Given the description of an element on the screen output the (x, y) to click on. 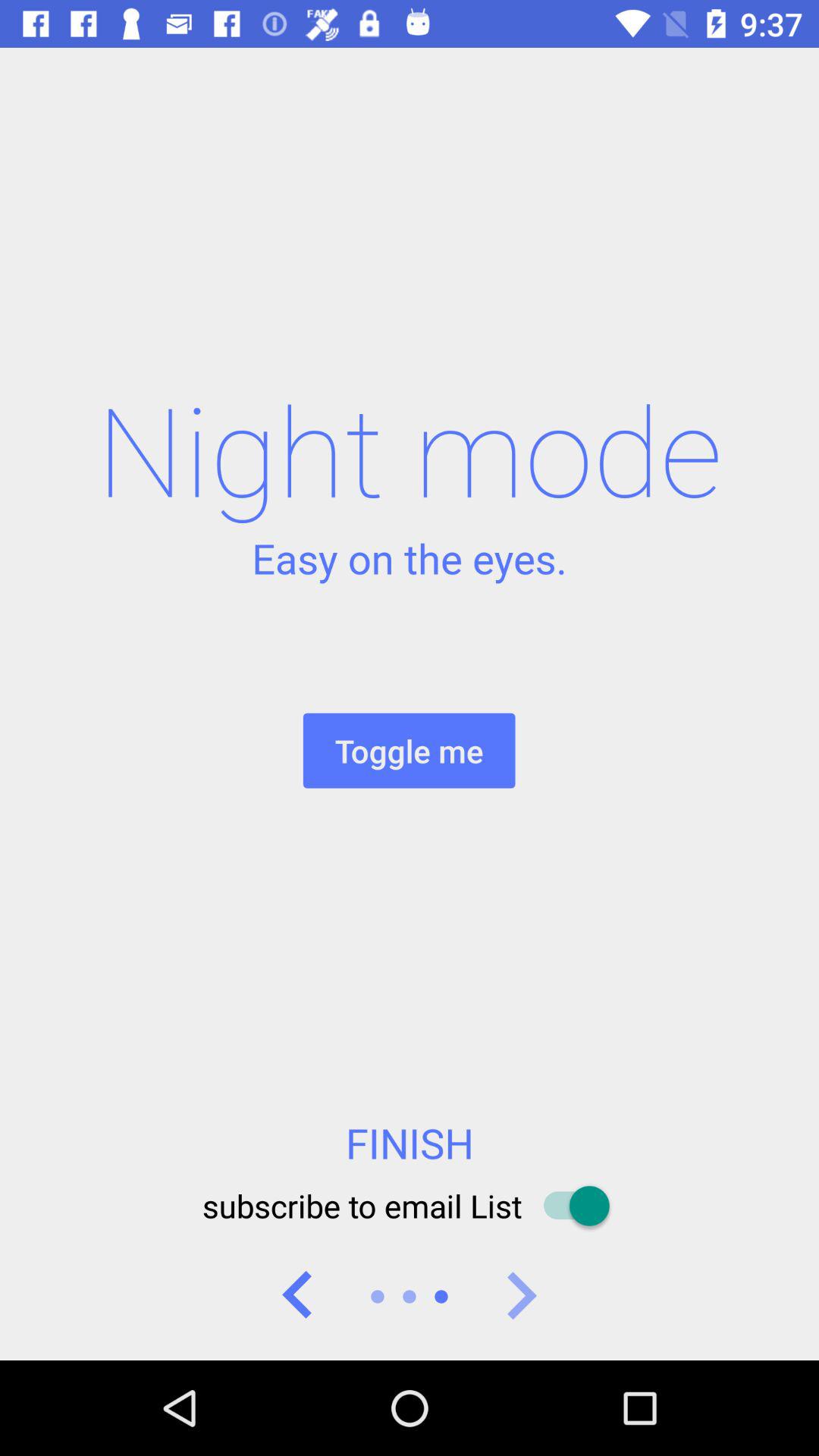
go to previous (297, 1296)
